Given the description of an element on the screen output the (x, y) to click on. 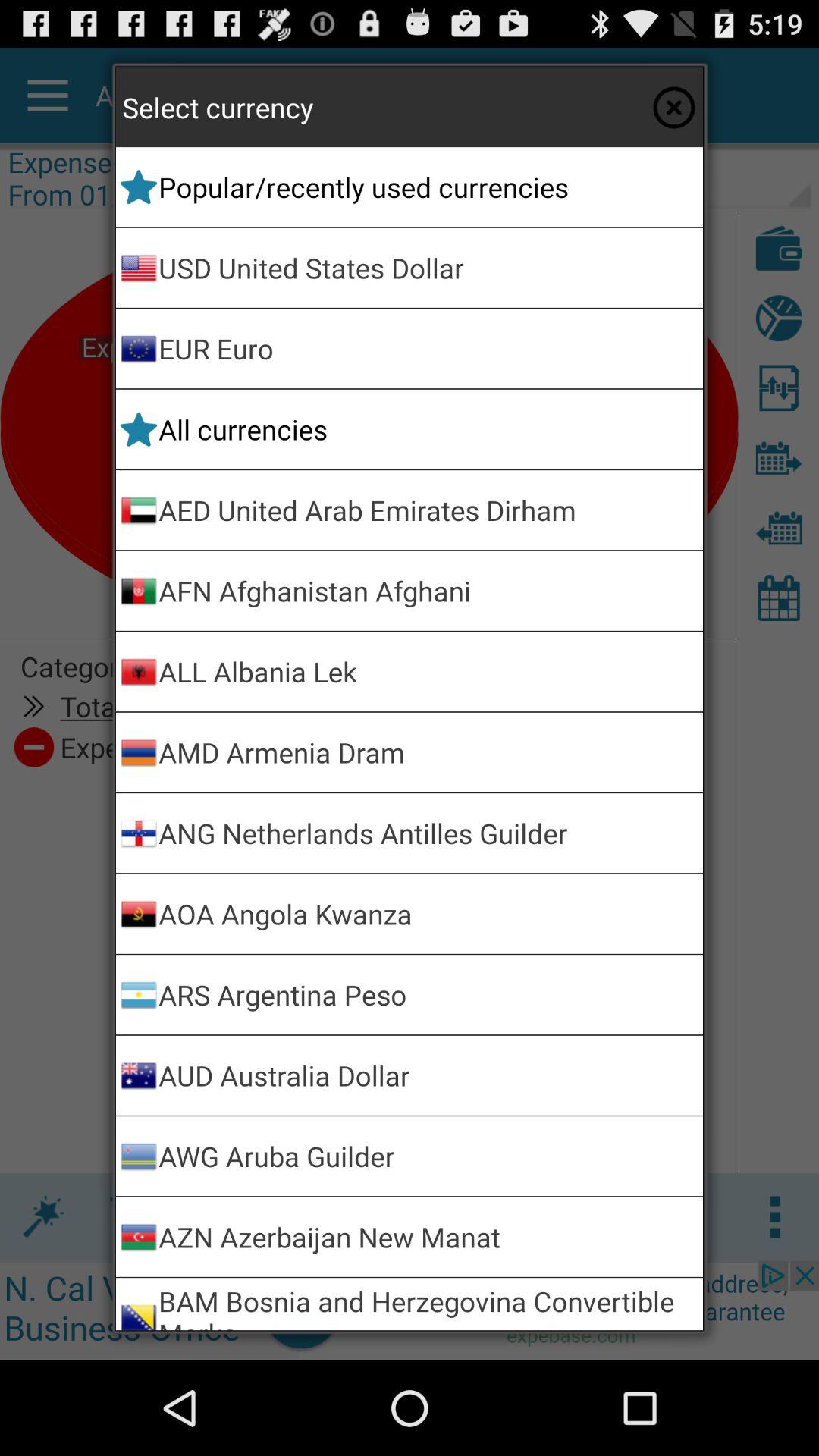
turn off app below aed united arab app (427, 590)
